Given the description of an element on the screen output the (x, y) to click on. 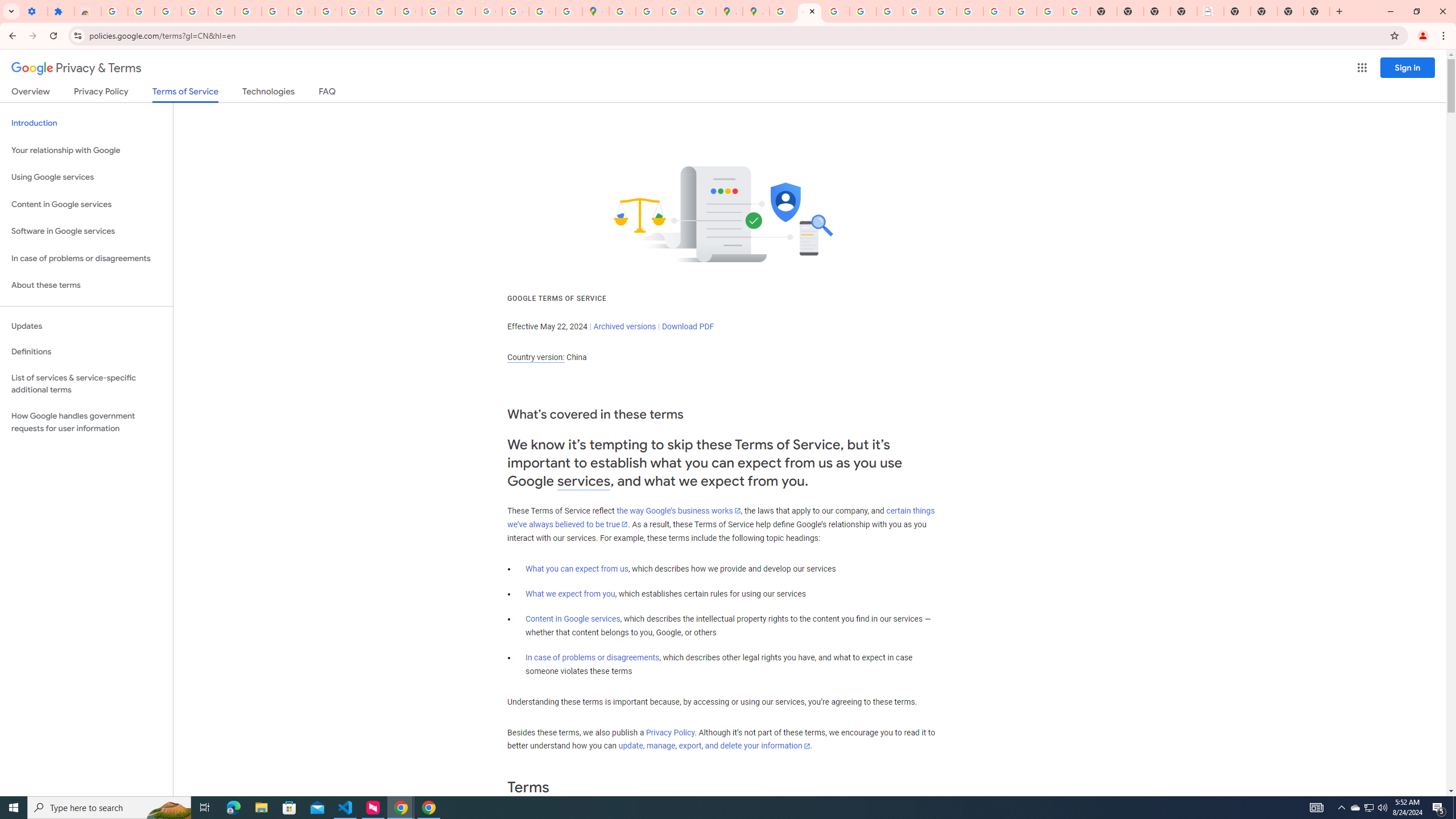
Learn how to find your photos - Google Photos Help (194, 11)
About these terms (86, 284)
services (583, 480)
Content in Google services (572, 618)
Privacy Help Center - Policies Help (836, 11)
